Given the description of an element on the screen output the (x, y) to click on. 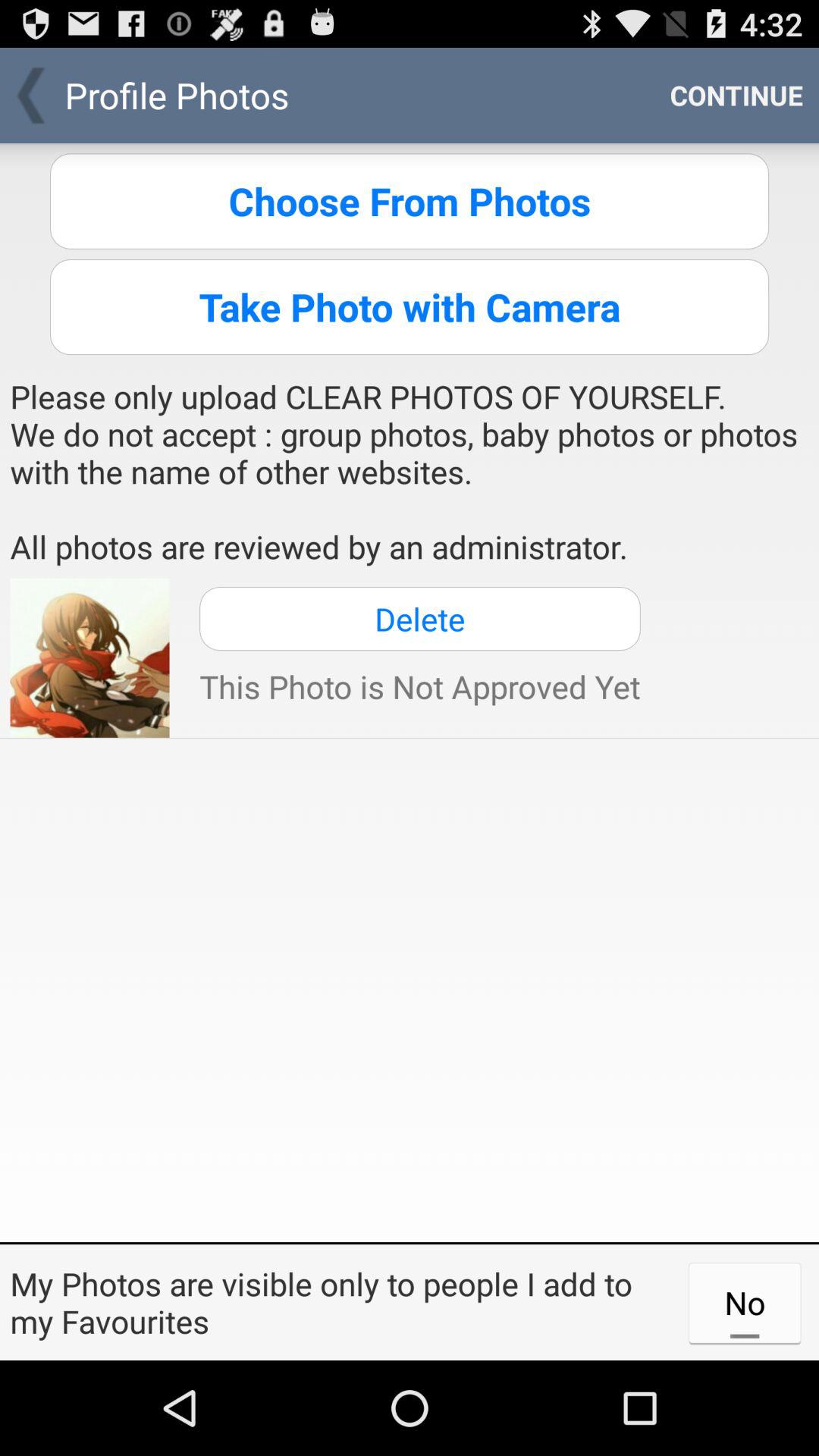
scroll until the this photo is app (419, 686)
